Given the description of an element on the screen output the (x, y) to click on. 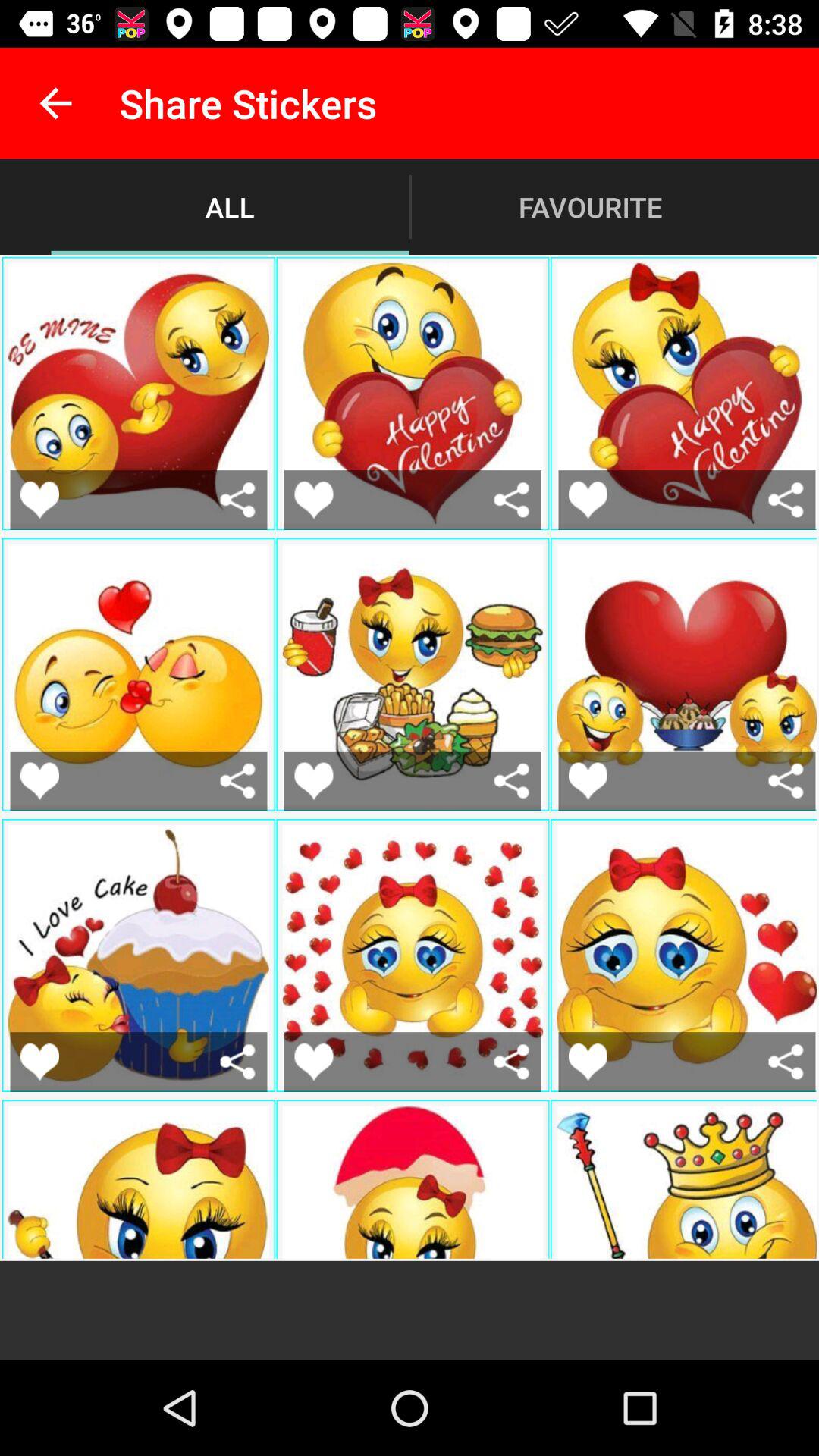
favorite the image (39, 1061)
